Given the description of an element on the screen output the (x, y) to click on. 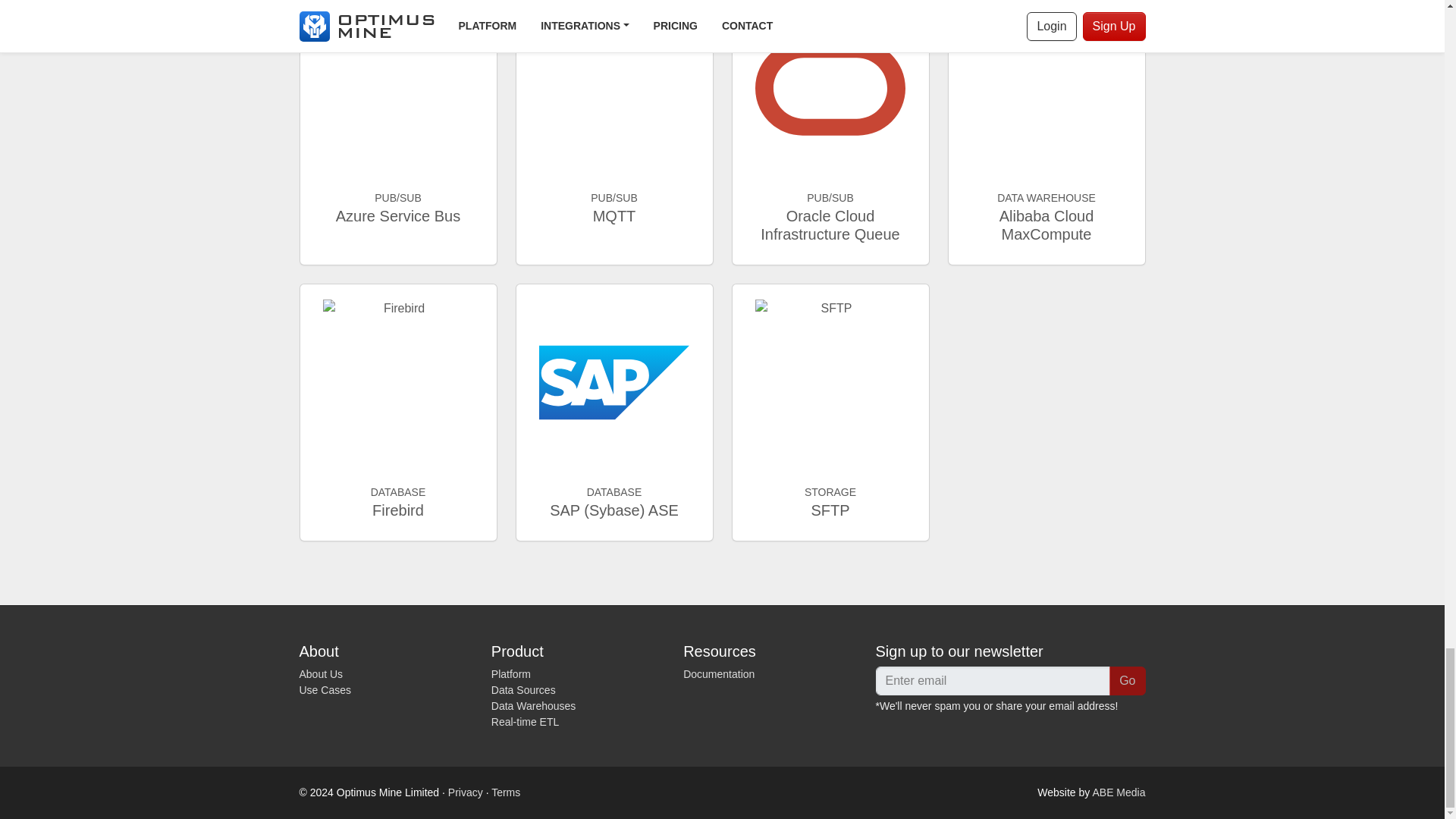
Web Design Brighton (1118, 792)
